Given the description of an element on the screen output the (x, y) to click on. 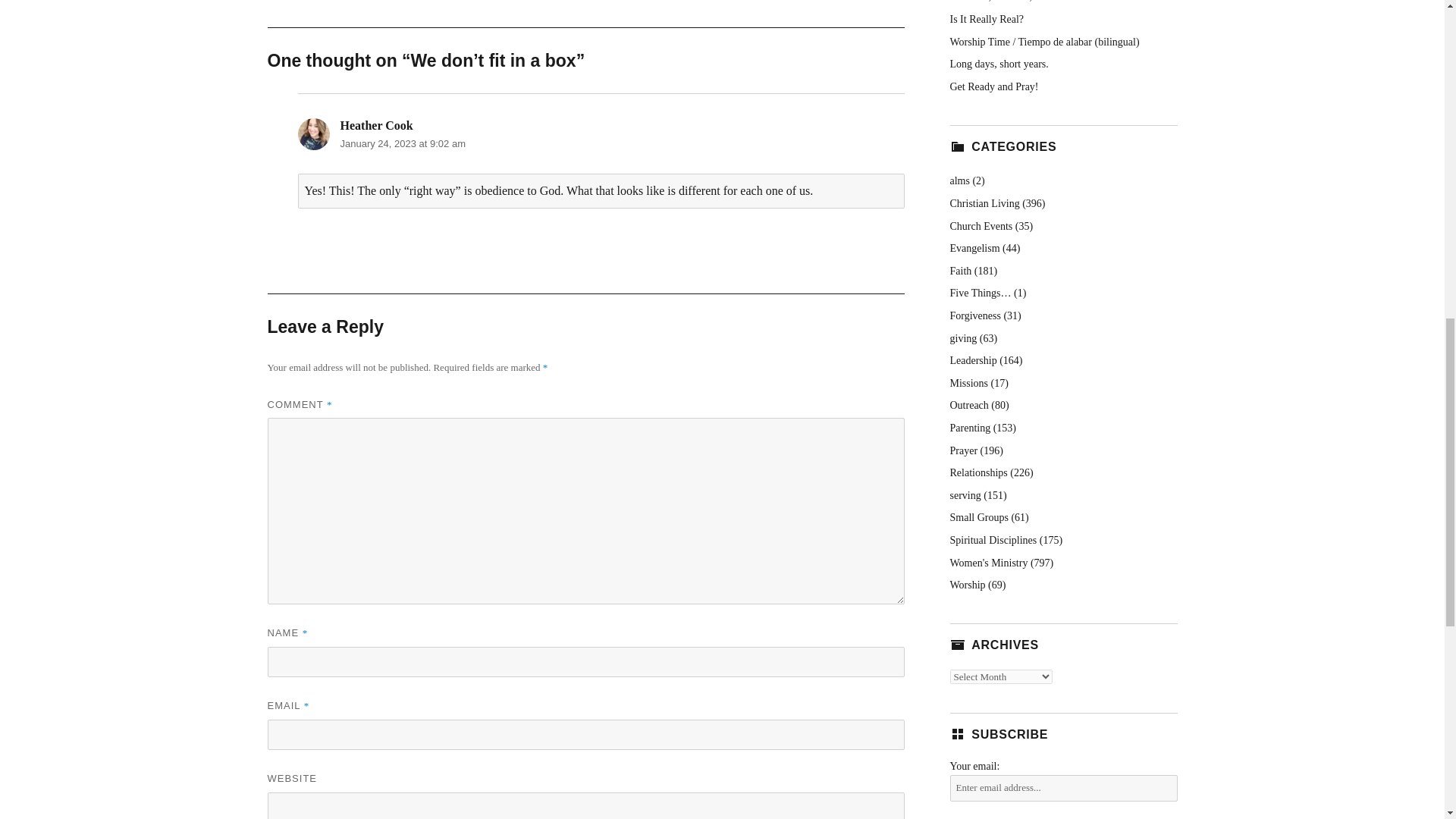
Evangelism (973, 247)
Get Ready and Pray! (993, 86)
Forgiveness (974, 315)
Long days, short years. (998, 63)
alms (959, 180)
January 24, 2023 at 9:02 am (402, 143)
Church Events (980, 225)
giving (962, 337)
Enter email address... (1062, 787)
Thankful, Grateful, Blessed (1008, 1)
